Given the description of an element on the screen output the (x, y) to click on. 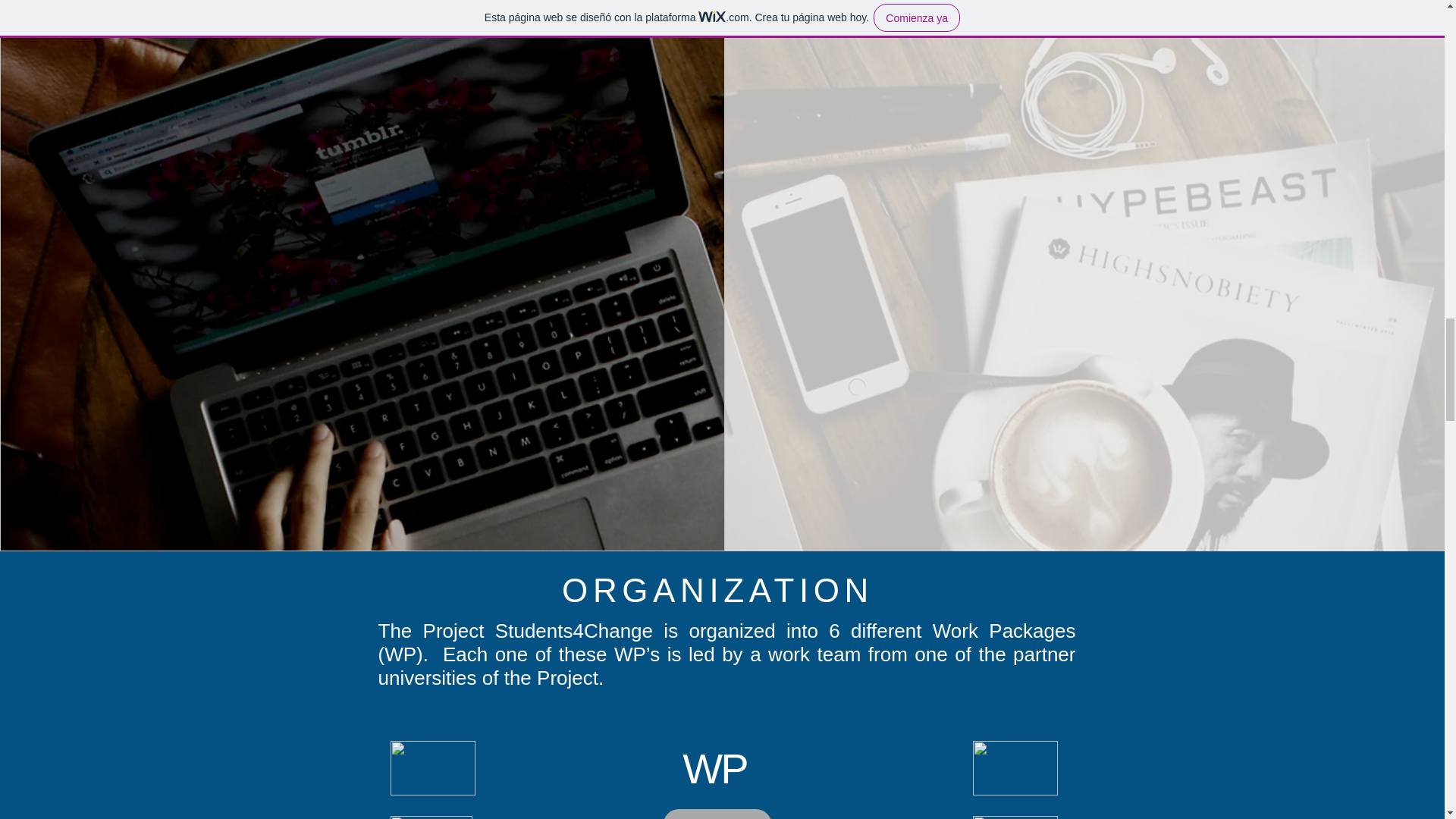
SEE MORE (716, 814)
